Given the description of an element on the screen output the (x, y) to click on. 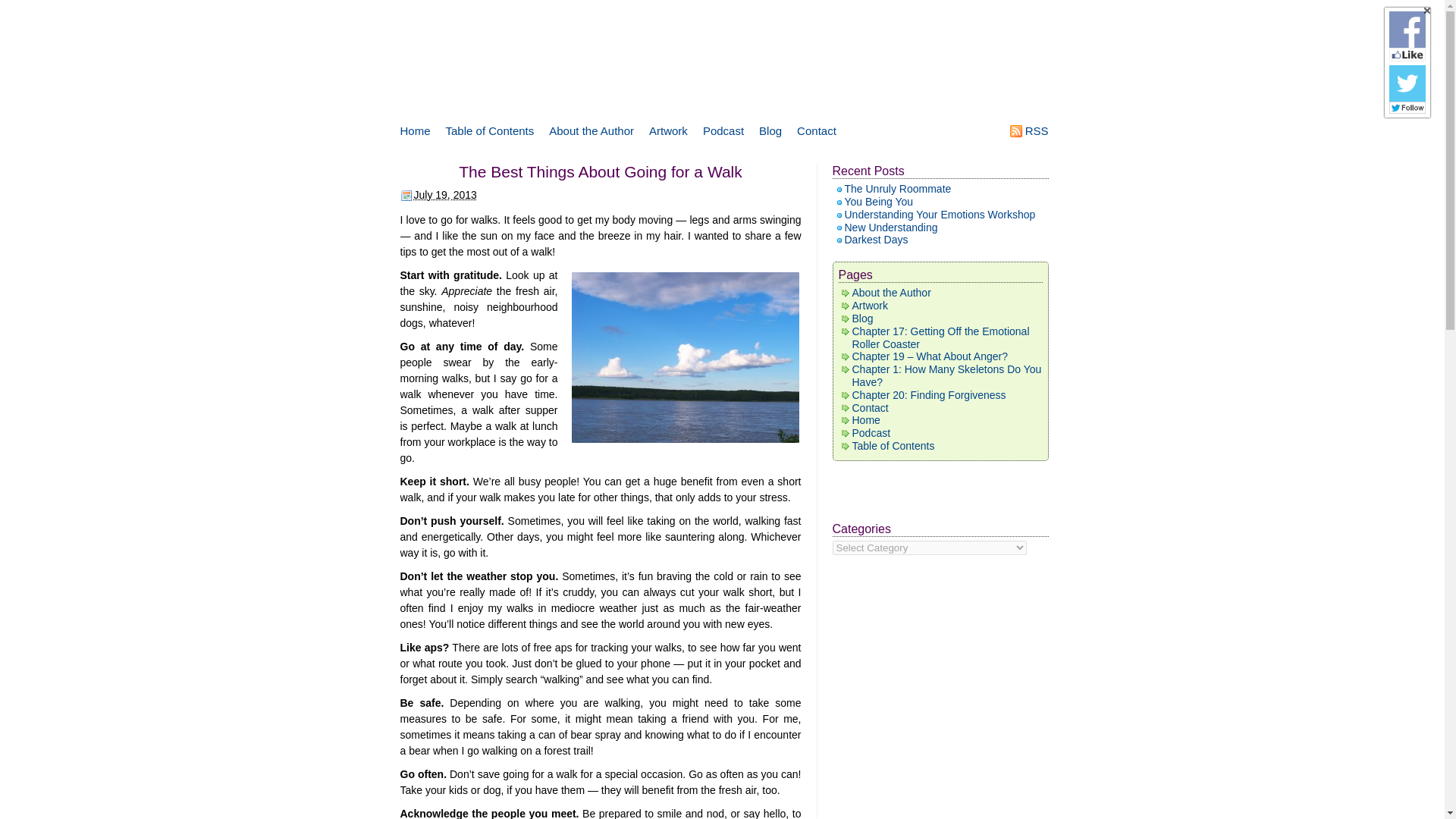
Chapter 17: Getting Off the Emotional Roller Coaster (940, 337)
Contact (816, 130)
Artwork (668, 130)
Artwork (869, 305)
Chapter 20: Finding Forgiveness (928, 395)
The Unruly Roommate (898, 188)
RSS 2.0 feed for the posts (1036, 130)
Darkest Days (876, 239)
Follow Teresa on Twitter (1407, 83)
You Being You (879, 201)
The Best Things About Going for a Walk (600, 171)
Blog (770, 130)
RSS (1036, 130)
2013-07-19T21:10:16-0700 (445, 194)
Podcast (723, 130)
